Given the description of an element on the screen output the (x, y) to click on. 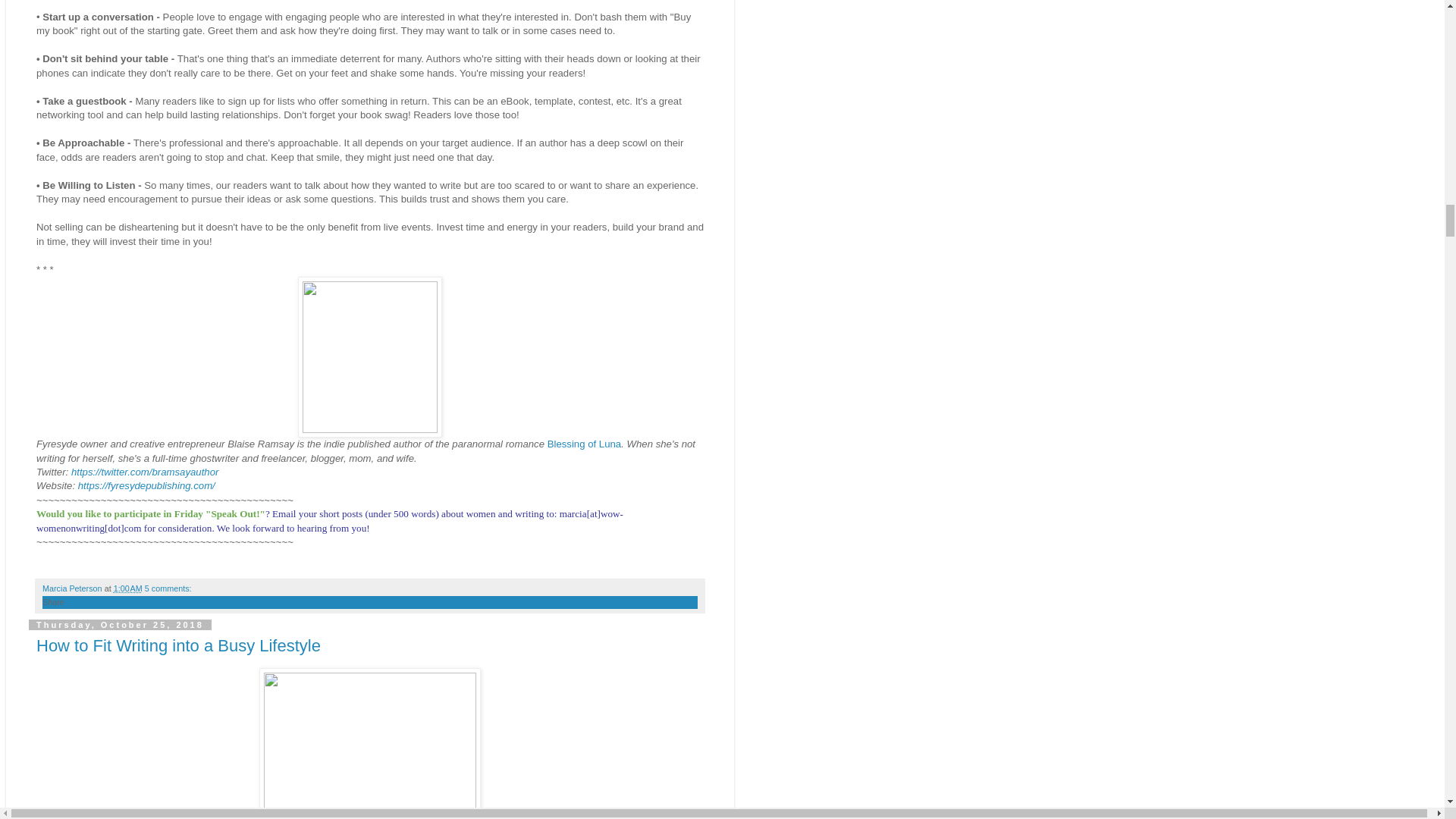
permanent link (127, 587)
author profile (73, 587)
